Given the description of an element on the screen output the (x, y) to click on. 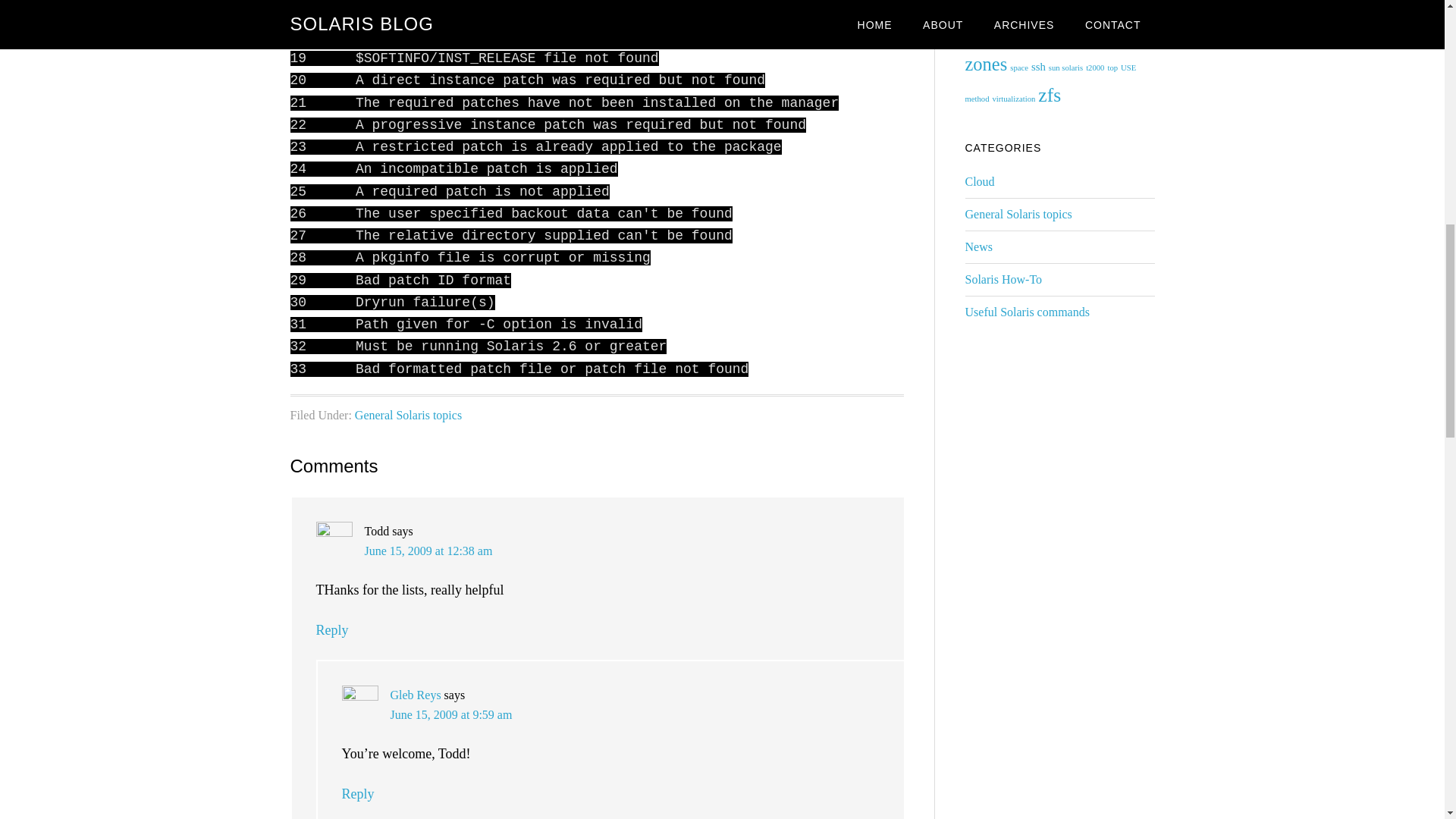
June 15, 2009 at 9:59 am (451, 714)
Reply (357, 793)
June 15, 2009 at 12:38 am (428, 550)
Reply (331, 630)
Gleb Reys (415, 694)
General Solaris topics (408, 414)
